Given the description of an element on the screen output the (x, y) to click on. 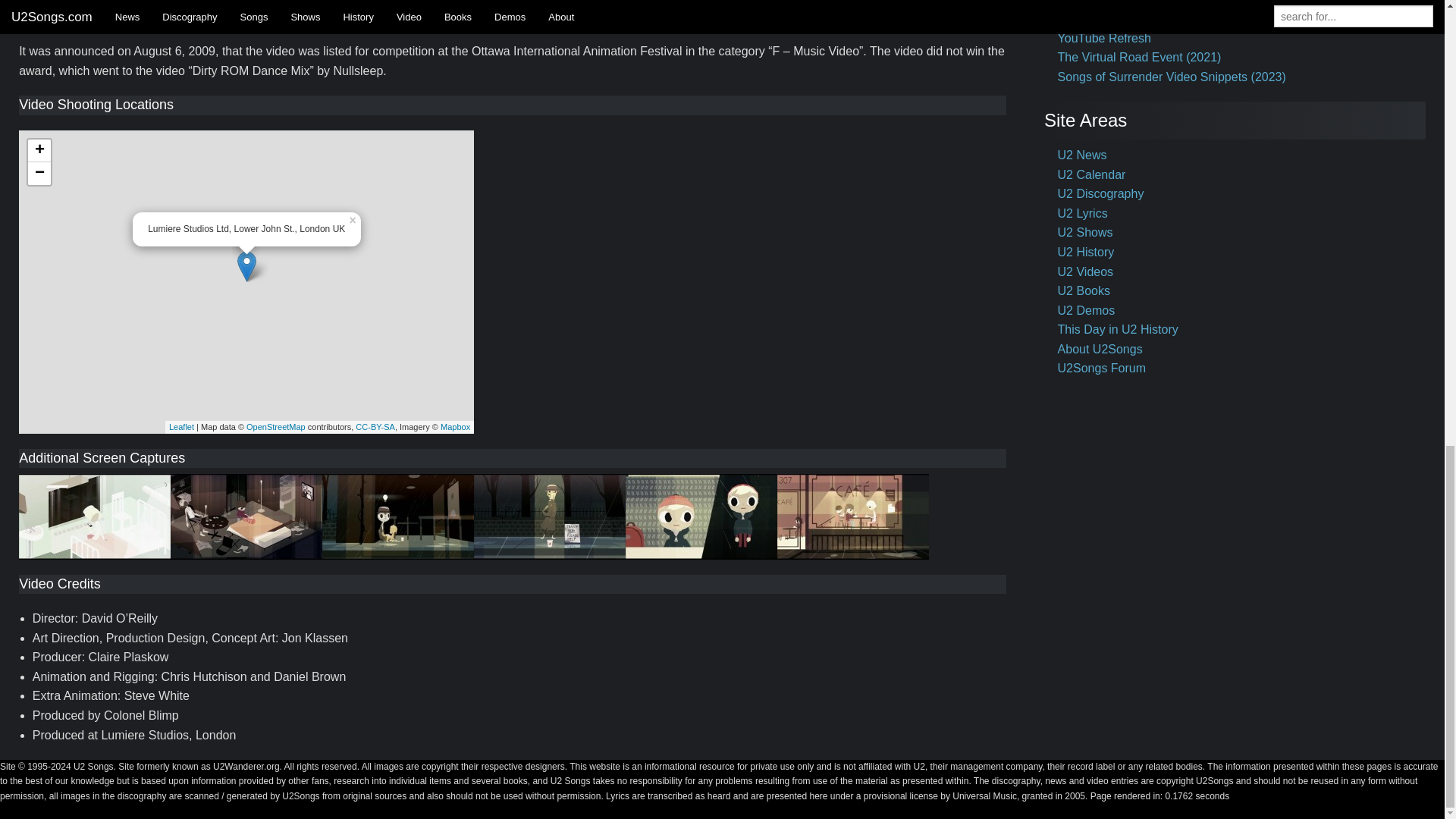
U2 Calendar (1091, 174)
U2 Videos by Title (1107, 2)
Zoom out (38, 173)
U2 News (1082, 154)
Zoom in (38, 150)
A JS library for interactive maps (180, 426)
Leaflet (180, 426)
Mapbox (455, 426)
U2 Discography (1101, 193)
U2 Lyrics (1083, 213)
YouTube Refresh (1104, 38)
CC-BY-SA (374, 426)
OpenStreetMap (275, 426)
